Given the description of an element on the screen output the (x, y) to click on. 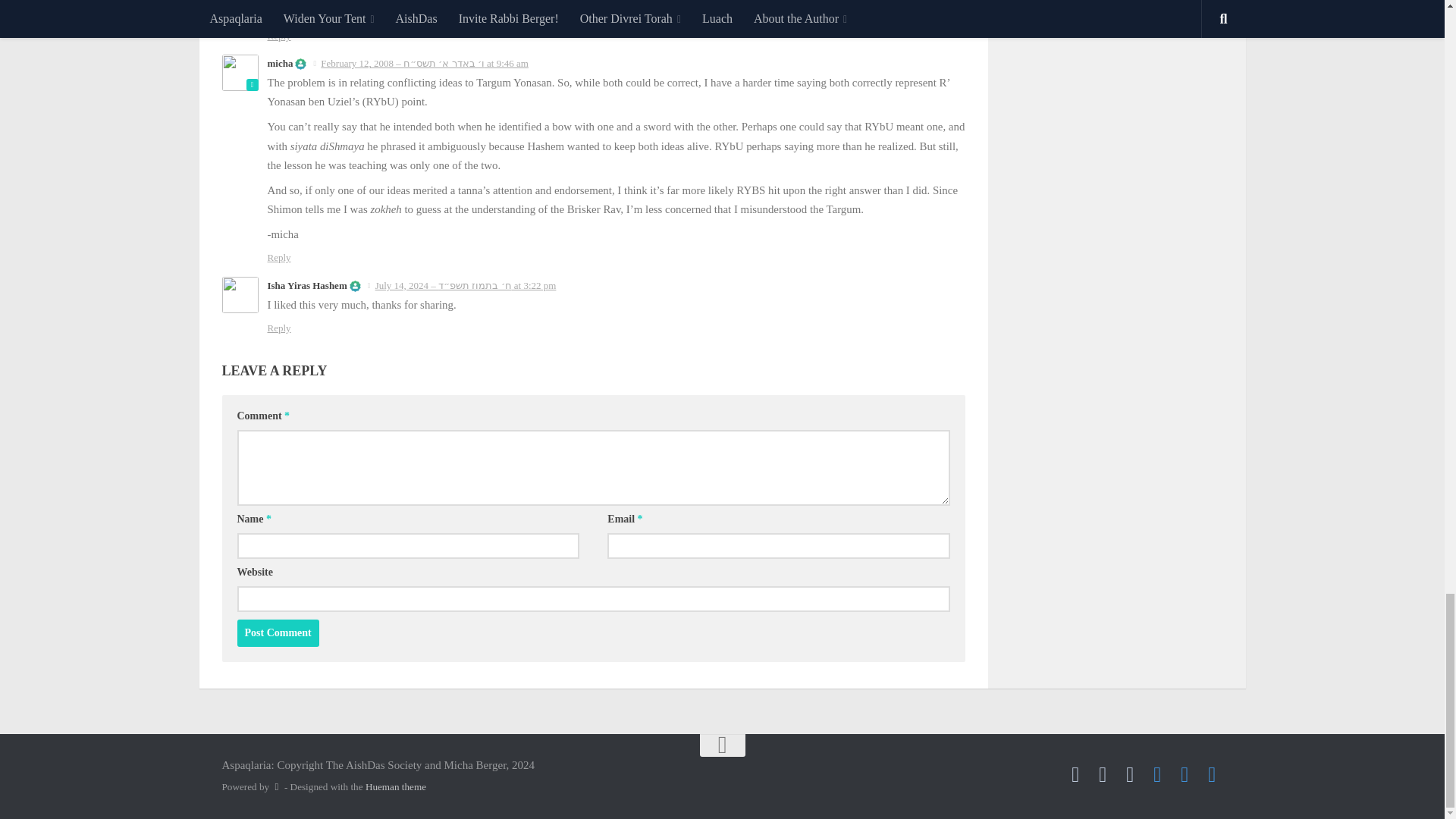
Post Comment (276, 633)
